Given the description of an element on the screen output the (x, y) to click on. 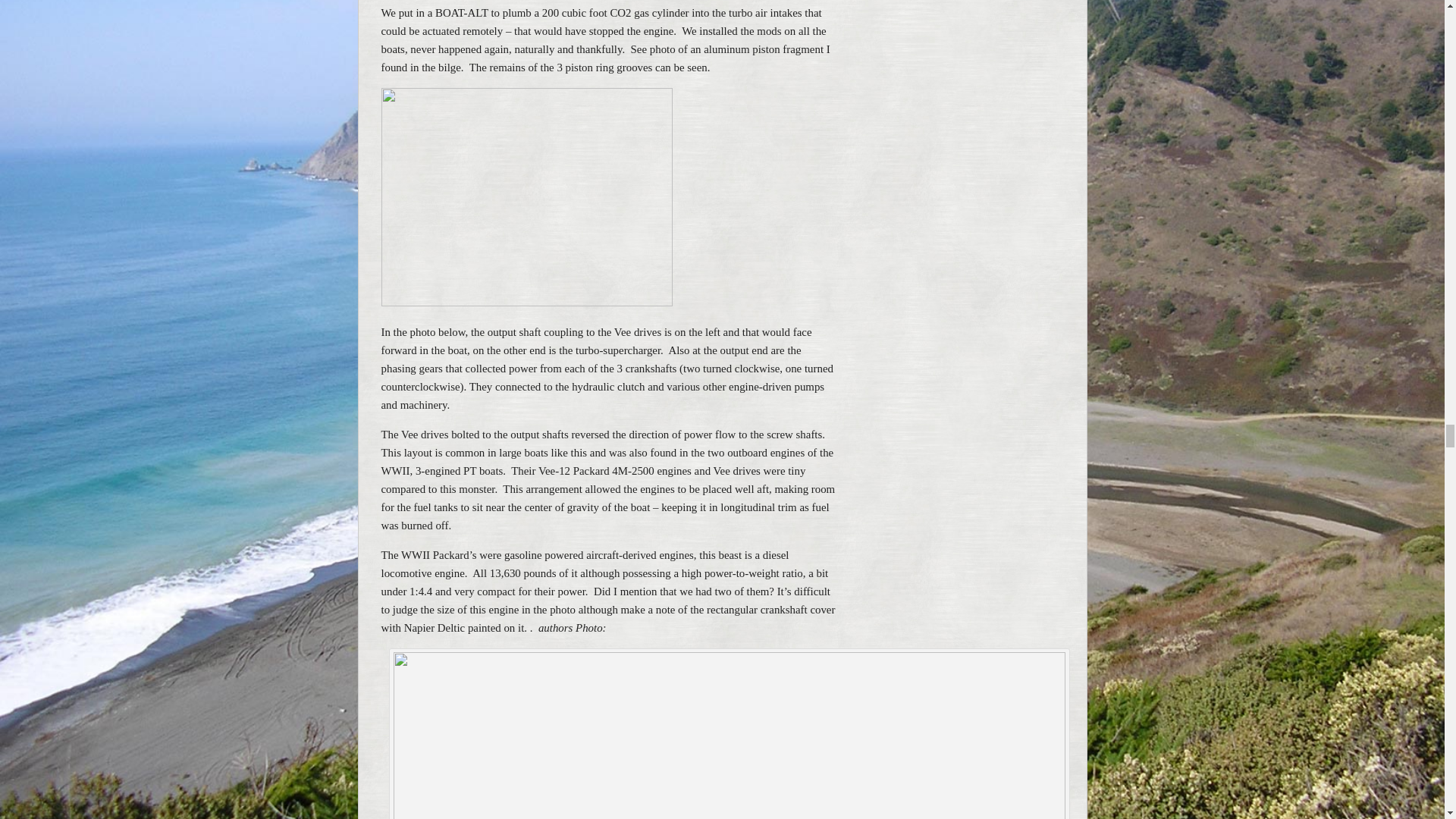
Napier Deltic piston fragmant - PTF-18 (525, 196)
